Given the description of an element on the screen output the (x, y) to click on. 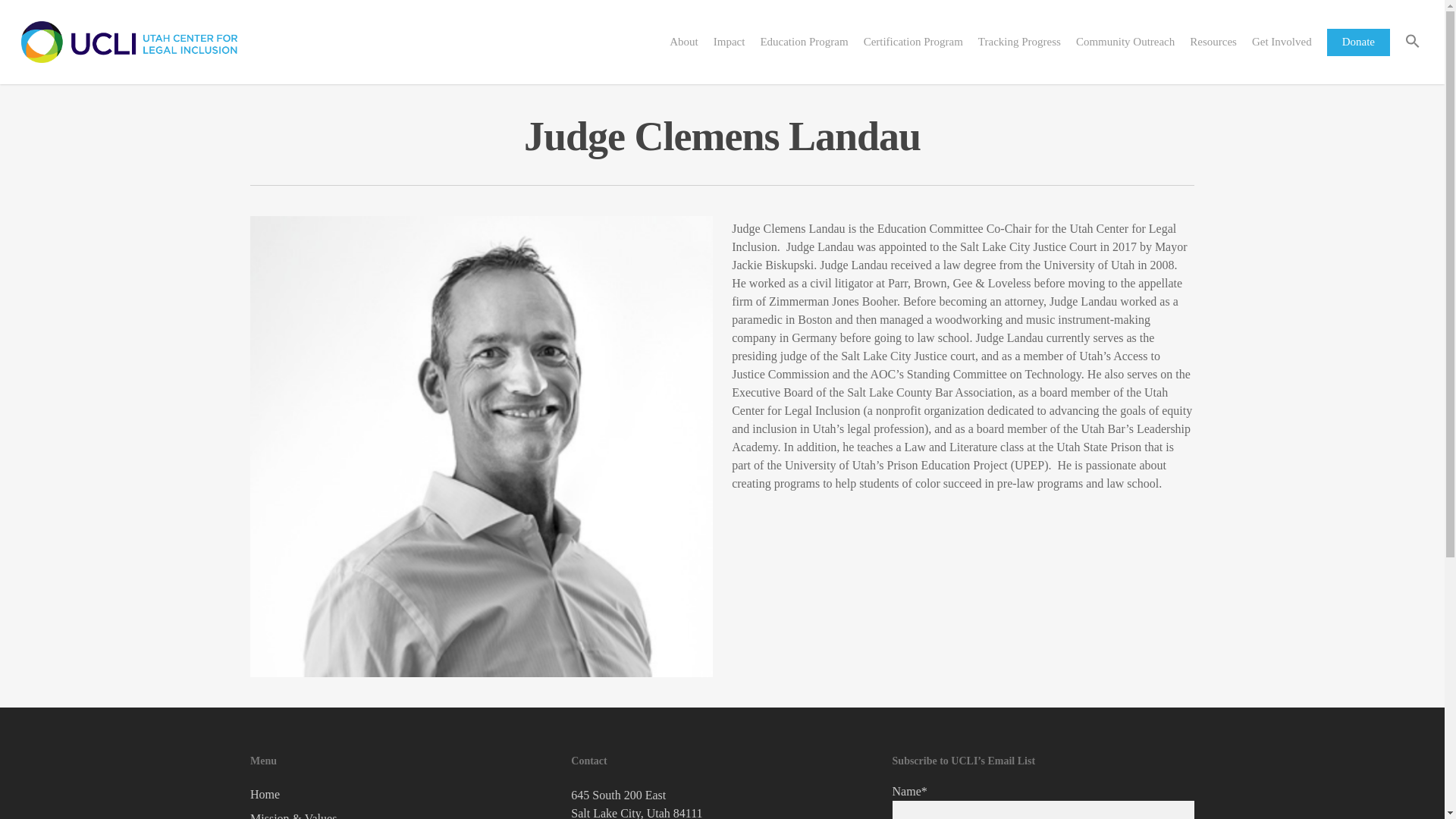
Impact (729, 41)
Education Program (804, 41)
About (684, 41)
